Given the description of an element on the screen output the (x, y) to click on. 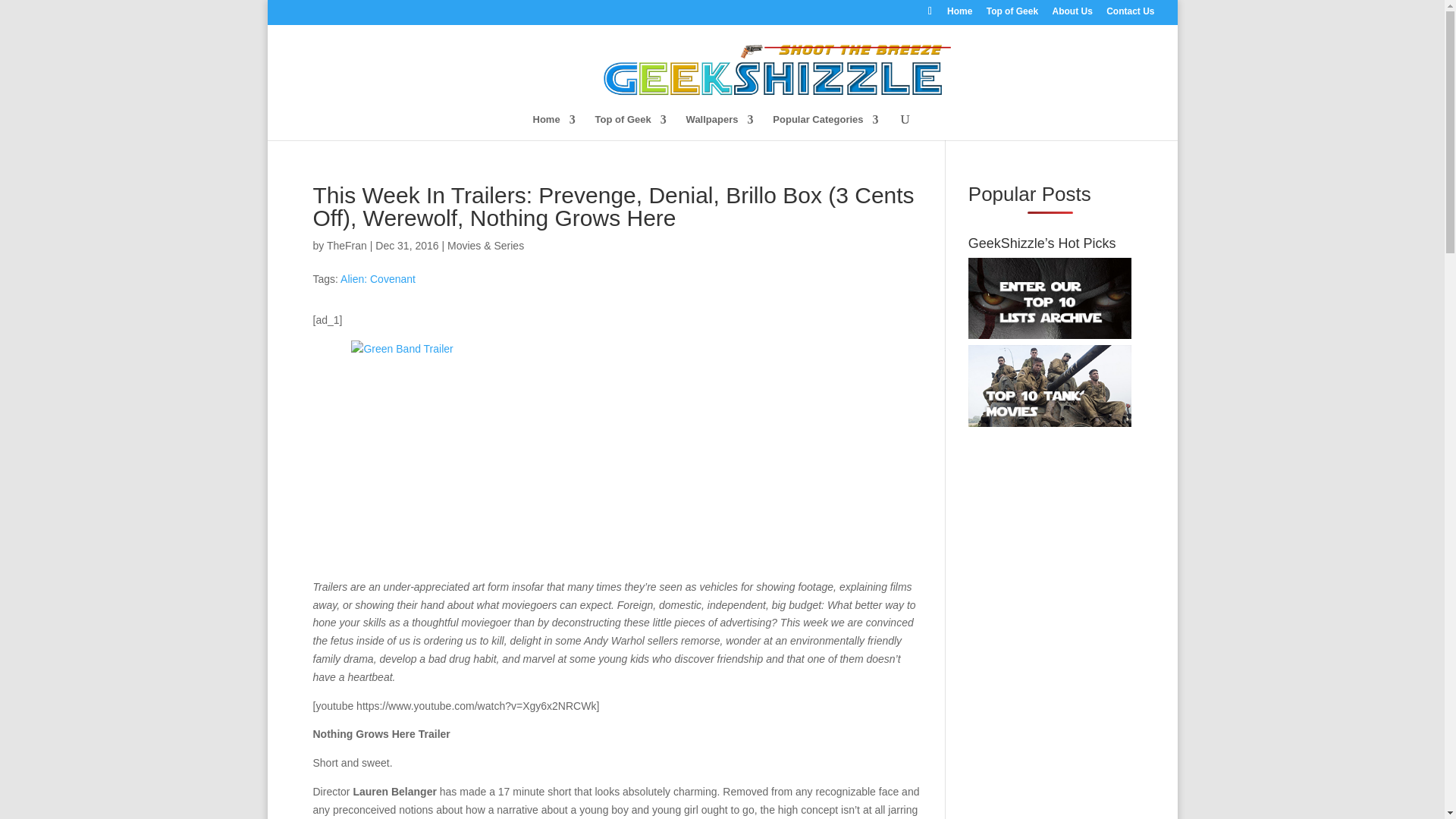
About Us (1071, 14)
Contact Us (1130, 14)
Top of Geek (1012, 14)
Home (959, 14)
TheFran (346, 245)
Wallpapers (719, 126)
Popular Categories (825, 126)
Top of Geek (630, 126)
Home (553, 126)
Alien: Covenant (377, 278)
Posts by TheFran (346, 245)
